Given the description of an element on the screen output the (x, y) to click on. 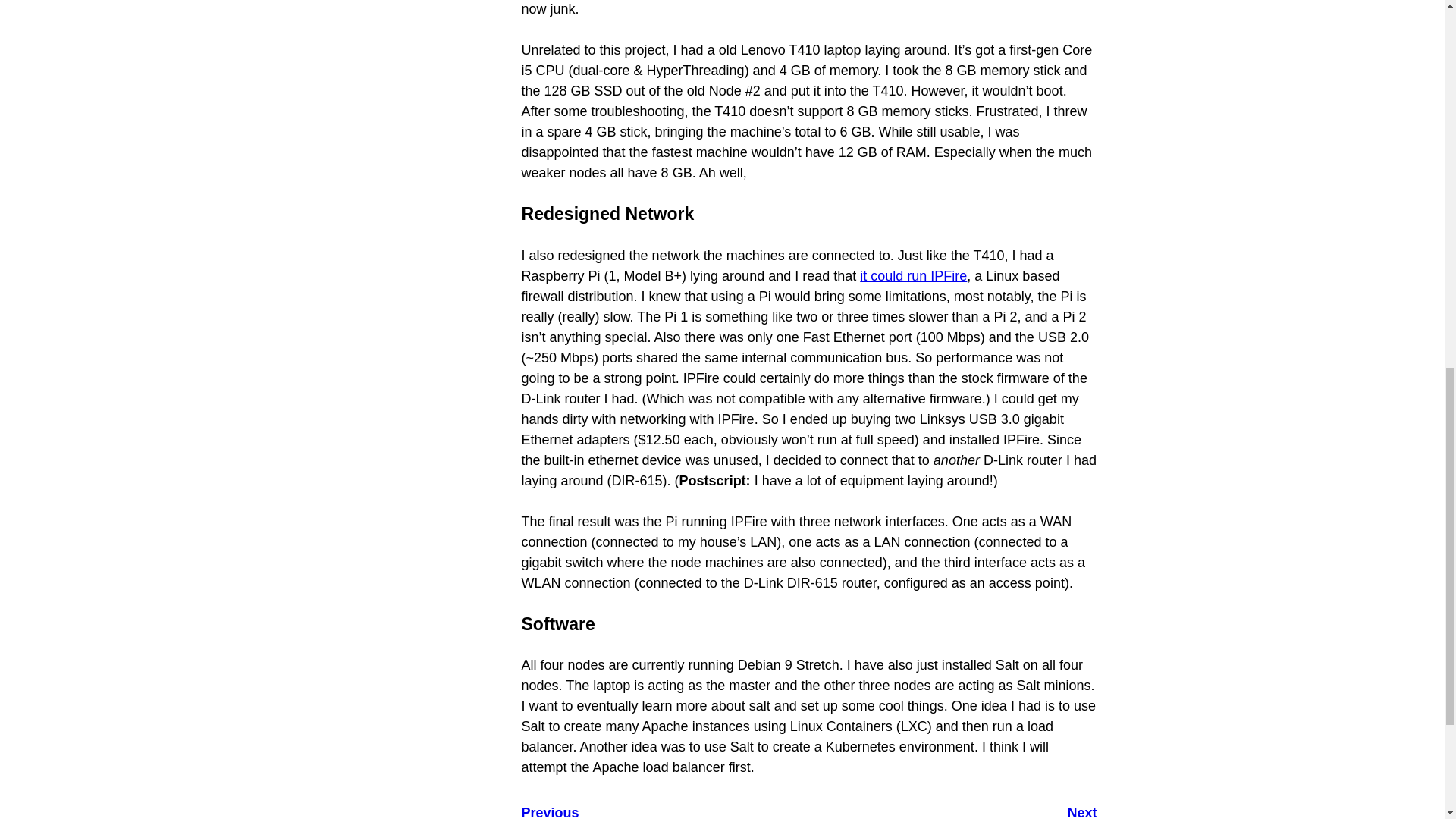
it could run IPFire (665, 812)
